Given the description of an element on the screen output the (x, y) to click on. 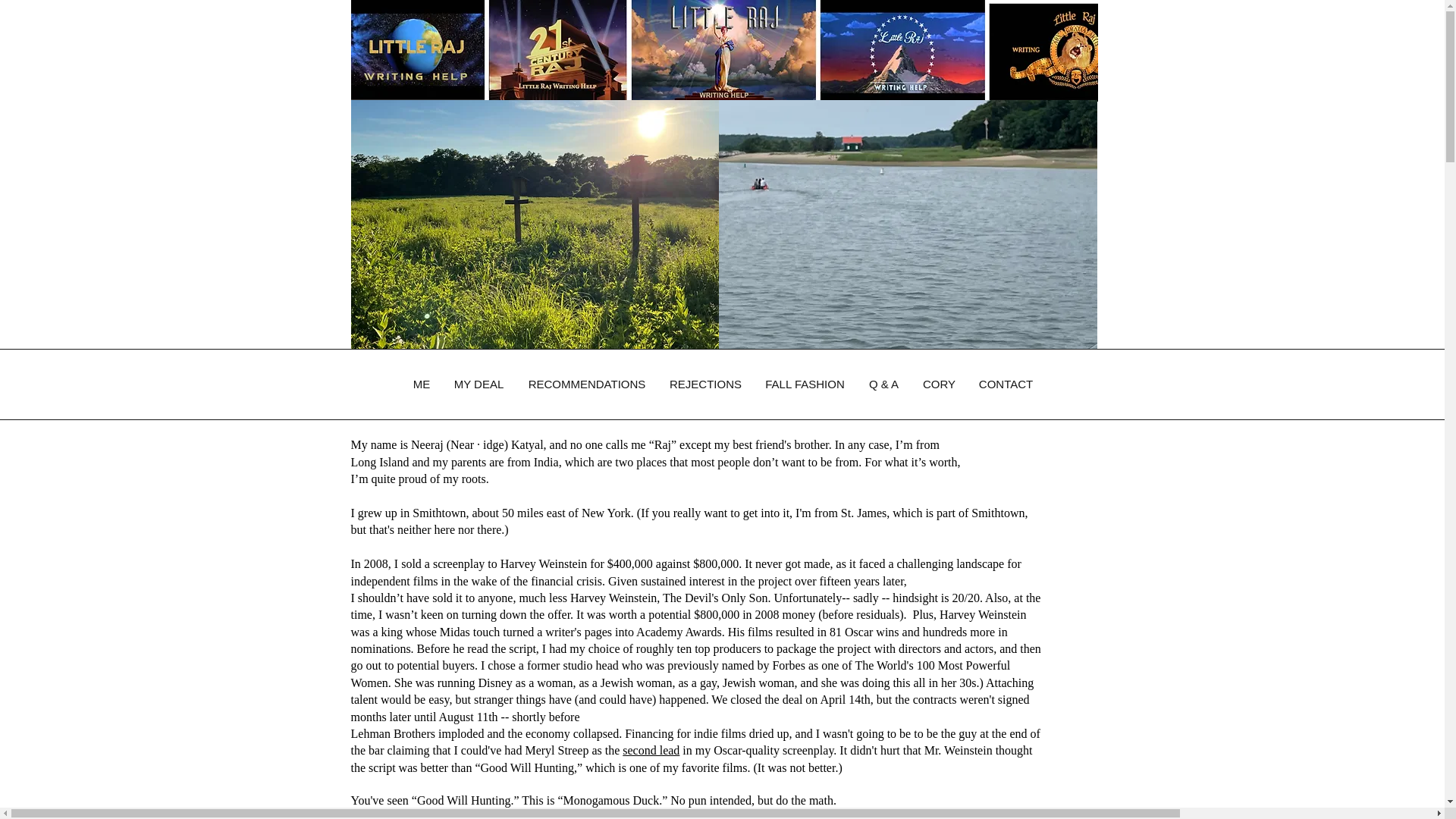
CONTACT (1006, 384)
RECOMMENDATIONS (586, 384)
second lead (651, 749)
FALL FASHION (805, 384)
MY DEAL (478, 384)
REJECTIONS (706, 384)
